Given the description of an element on the screen output the (x, y) to click on. 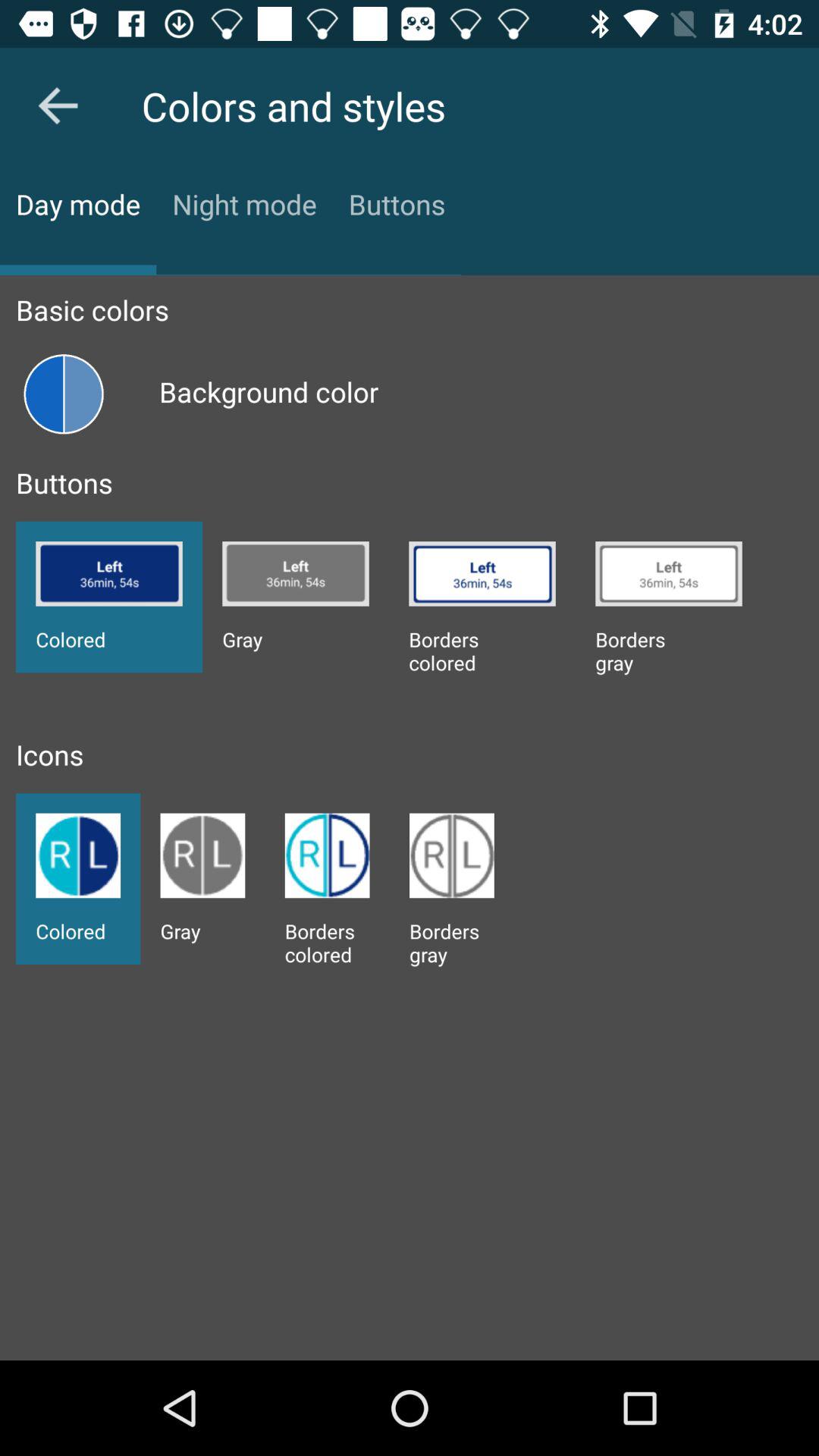
tap the item to the left of the colors and styles icon (57, 105)
